Given the description of an element on the screen output the (x, y) to click on. 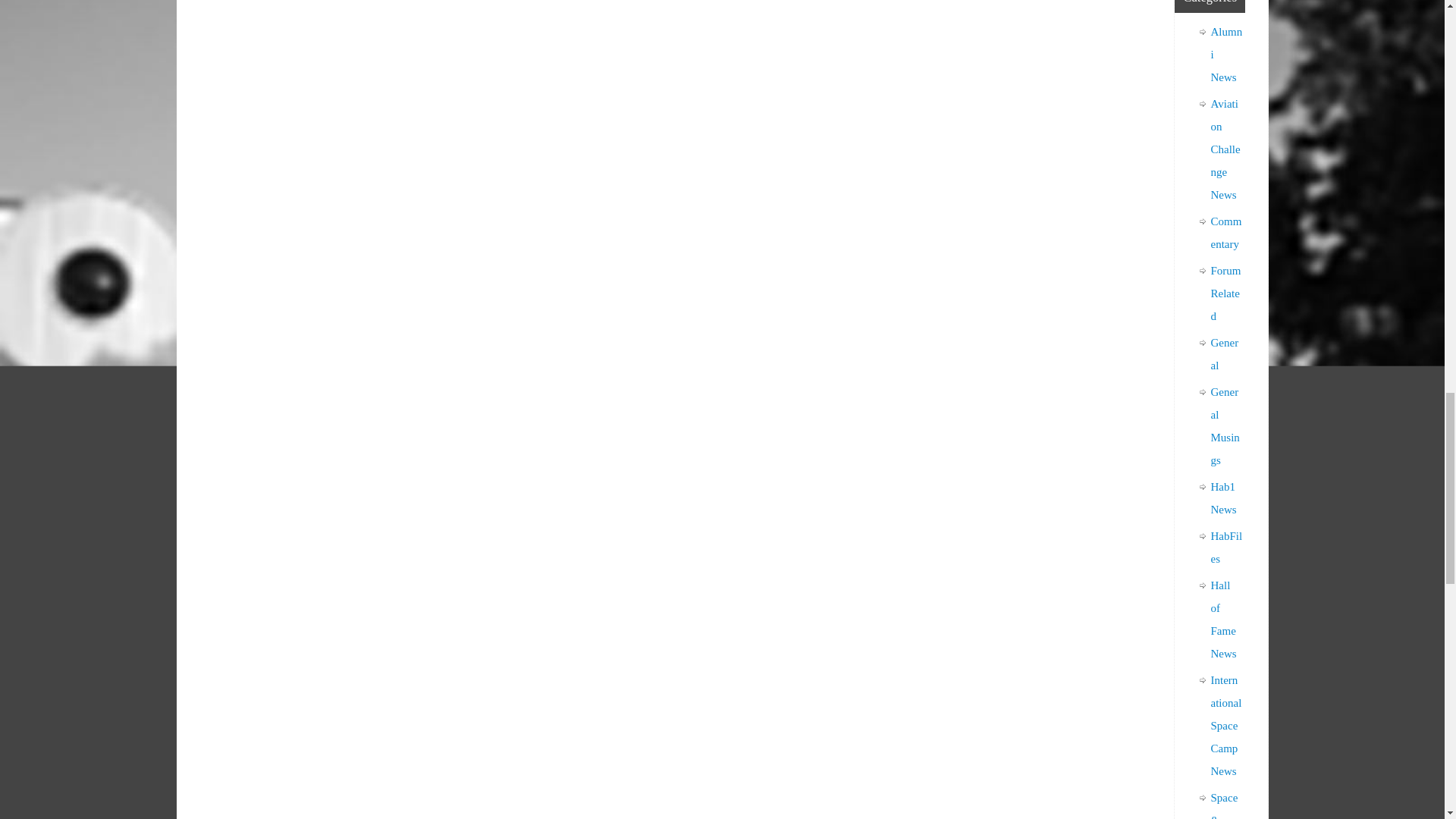
Commentary (1225, 232)
General Musings (1224, 425)
Hab1 News (1222, 497)
General (1224, 353)
Aviation Challenge News (1224, 148)
Forum Related (1224, 293)
Alumni News (1225, 54)
